Given the description of an element on the screen output the (x, y) to click on. 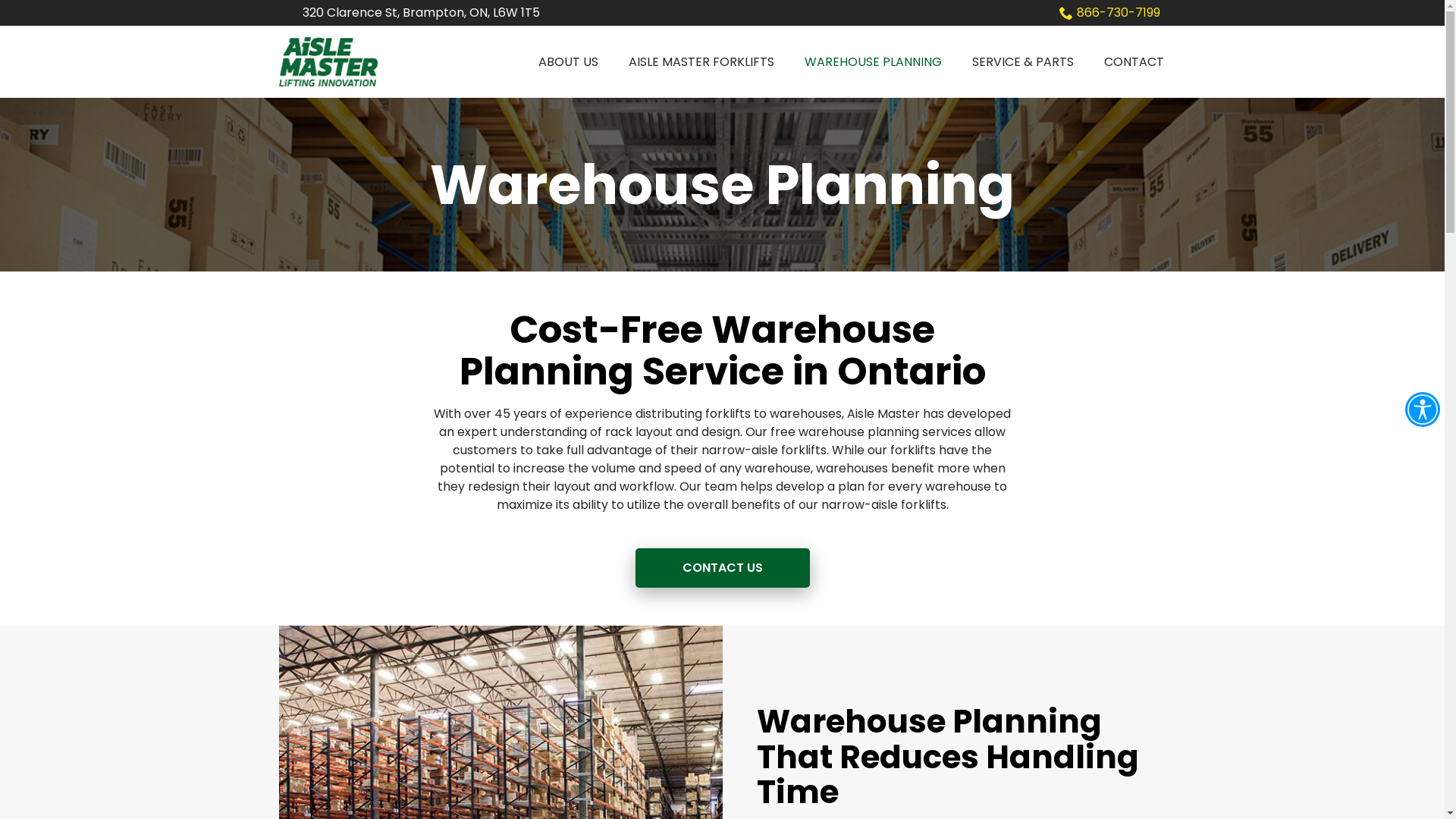
866-730-7199 Element type: text (1108, 12)
CONTACT Element type: text (1134, 61)
Submit Element type: text (45, 9)
320 Clarence St, Brampton, ON, L6W 1T5 Element type: text (420, 12)
WAREHOUSE PLANNING Element type: text (872, 61)
ABOUT US Element type: text (568, 61)
SERVICE & PARTS Element type: text (1022, 61)
CONTACT US Element type: text (722, 567)
AISLE MASTER FORKLIFTS Element type: text (700, 61)
